Given the description of an element on the screen output the (x, y) to click on. 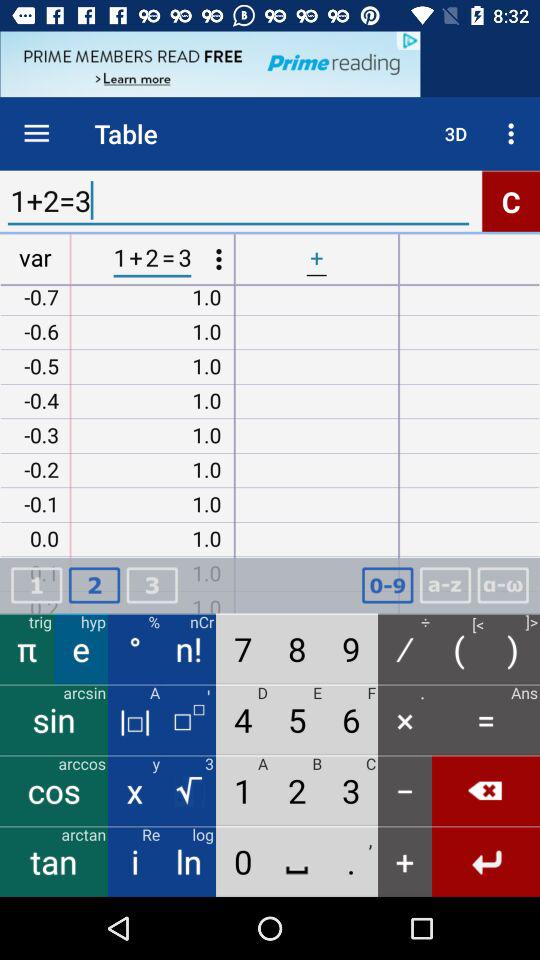
number pad option (387, 585)
